Given the description of an element on the screen output the (x, y) to click on. 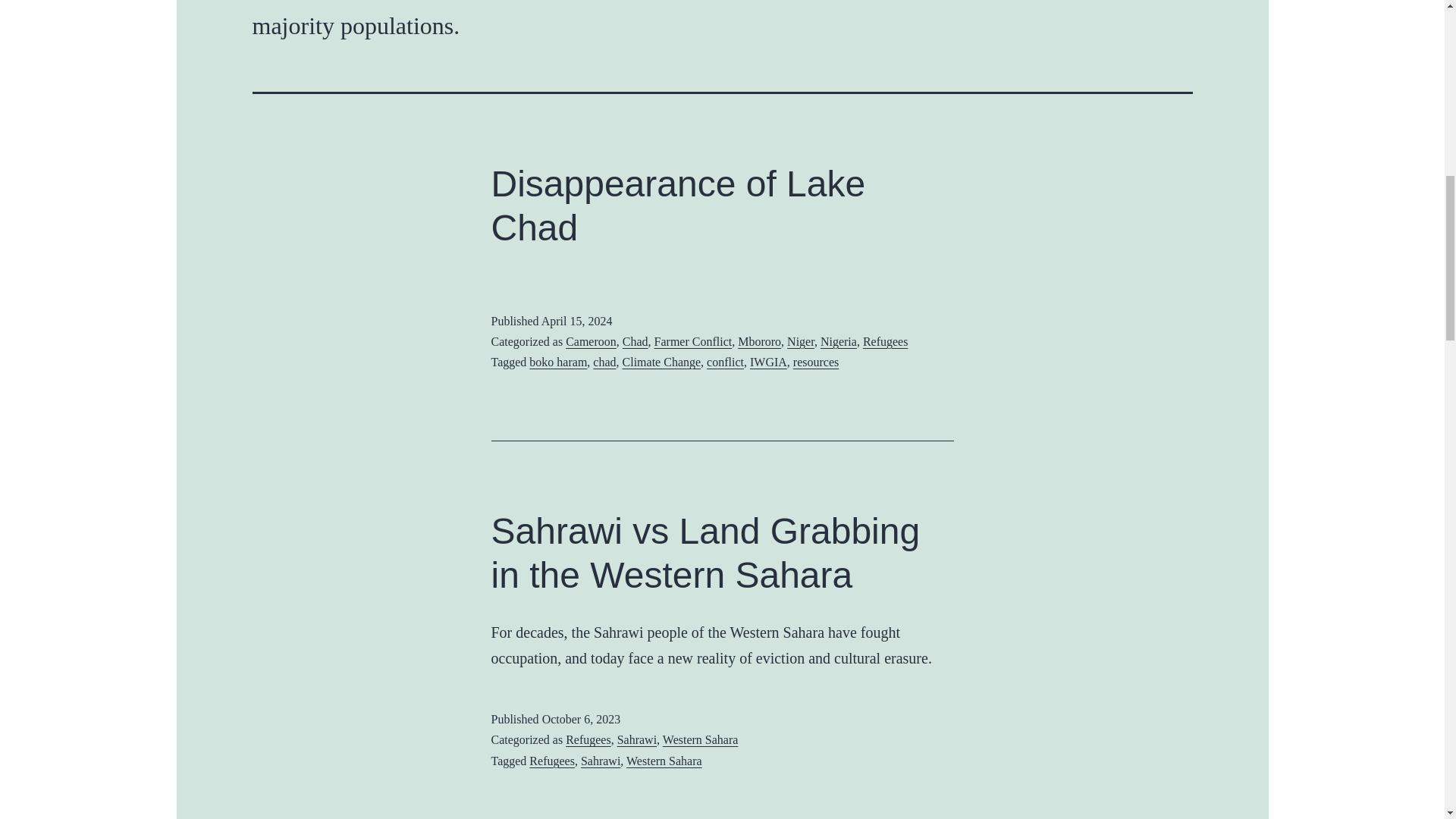
Refugees (552, 760)
Sahrawi (600, 760)
Western Sahara (700, 739)
Refugees (588, 739)
Sahrawi vs Land Grabbing in the Western Sahara (706, 553)
Sahrawi (636, 739)
Chad (635, 341)
conflict (725, 361)
Mbororo (759, 341)
Niger (800, 341)
